Given the description of an element on the screen output the (x, y) to click on. 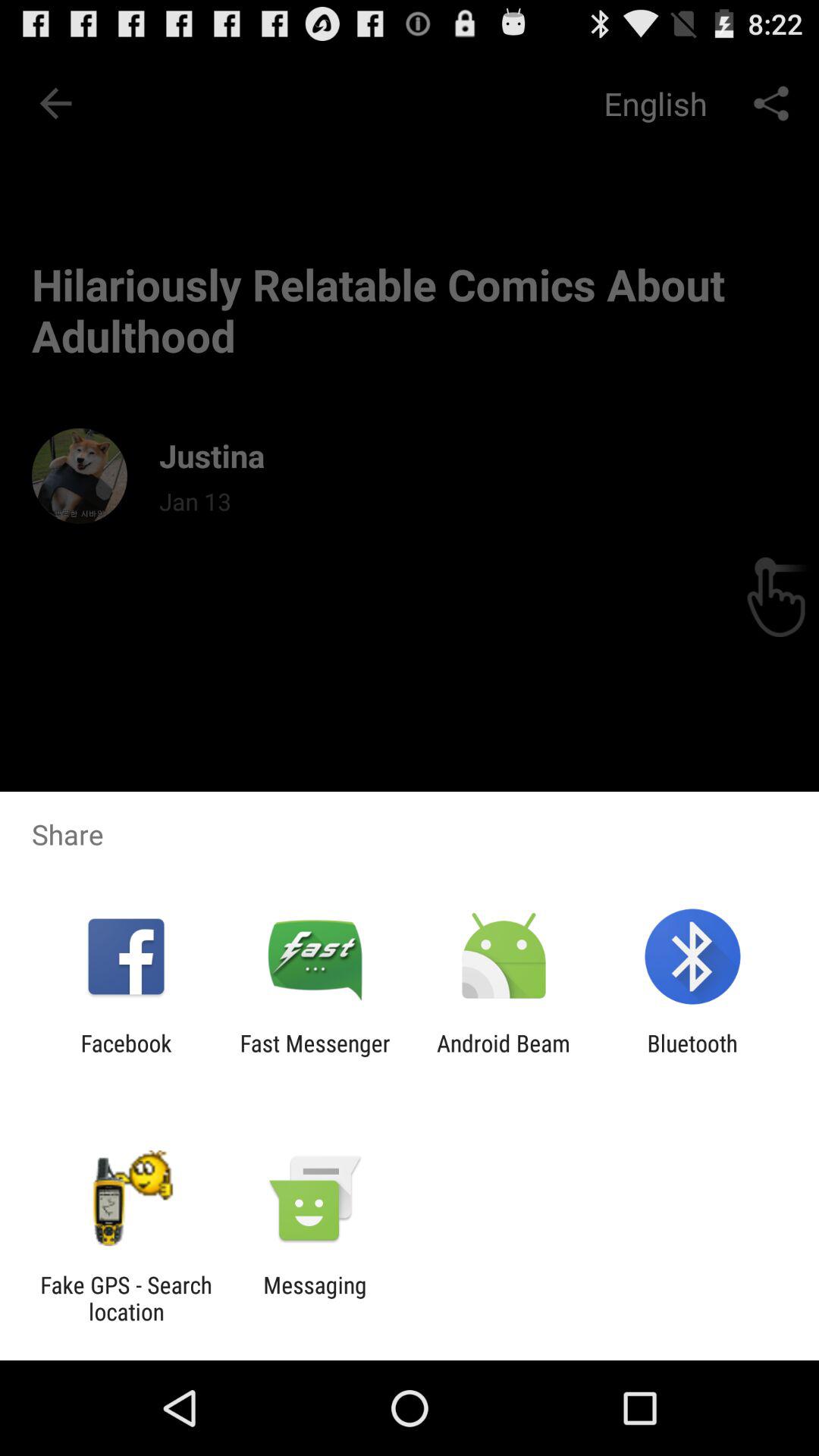
turn off icon to the right of android beam item (692, 1056)
